Given the description of an element on the screen output the (x, y) to click on. 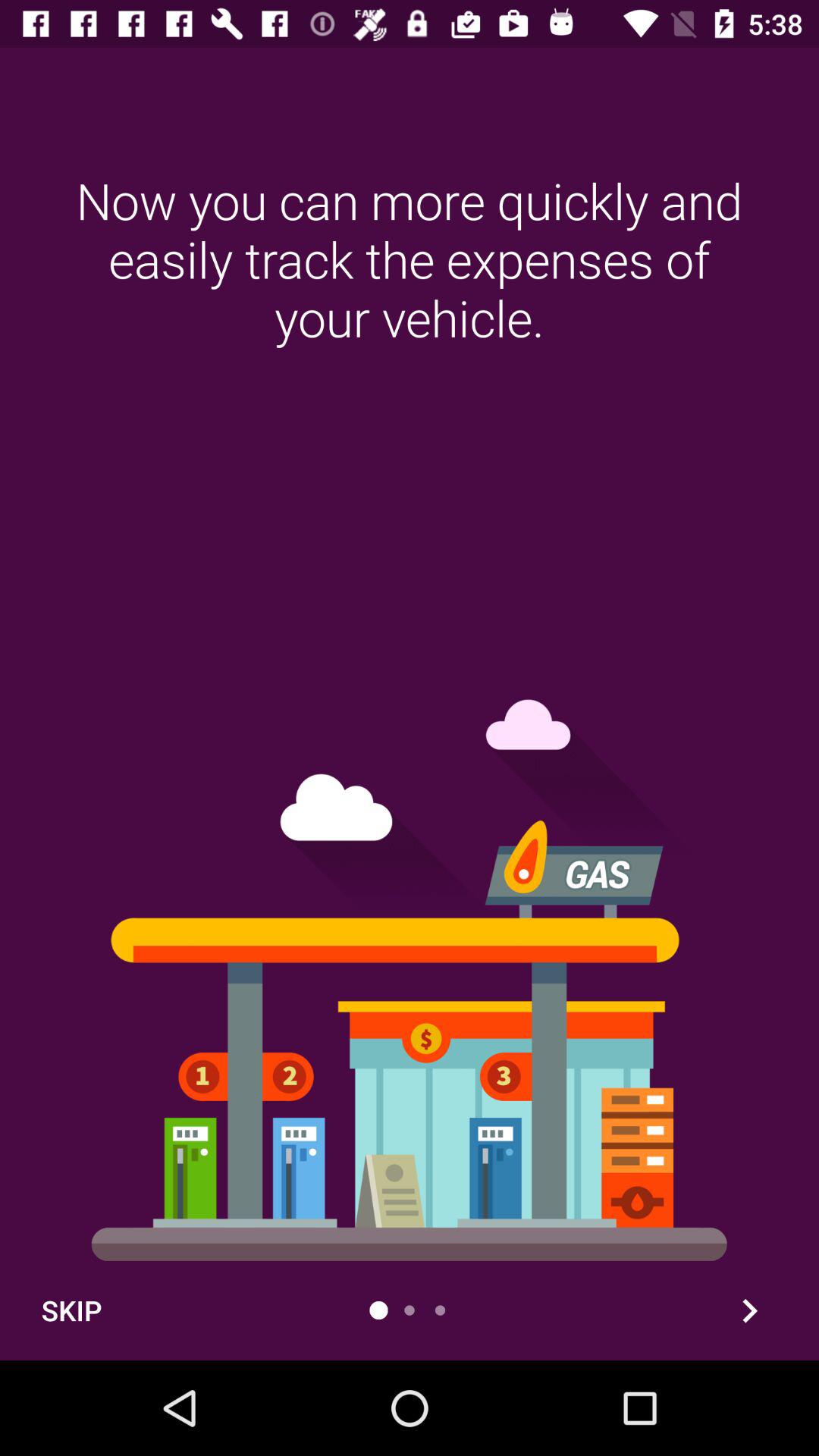
next item (749, 1310)
